Given the description of an element on the screen output the (x, y) to click on. 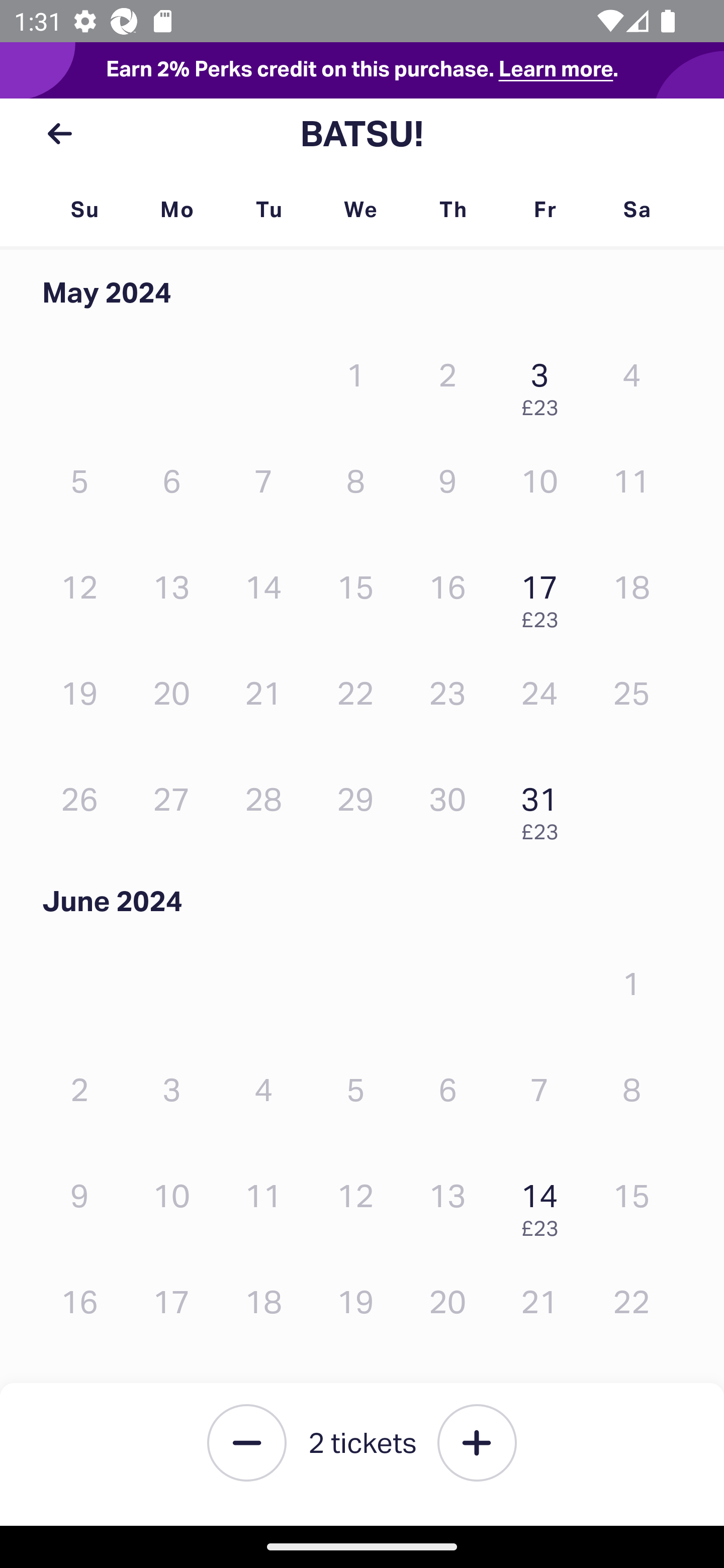
Earn 2% Perks credit on this purchase. Learn more. (362, 70)
back button (59, 133)
3 £23 (544, 384)
17 £23 (544, 596)
31 £23 (544, 807)
14 £23 (544, 1204)
